Given the description of an element on the screen output the (x, y) to click on. 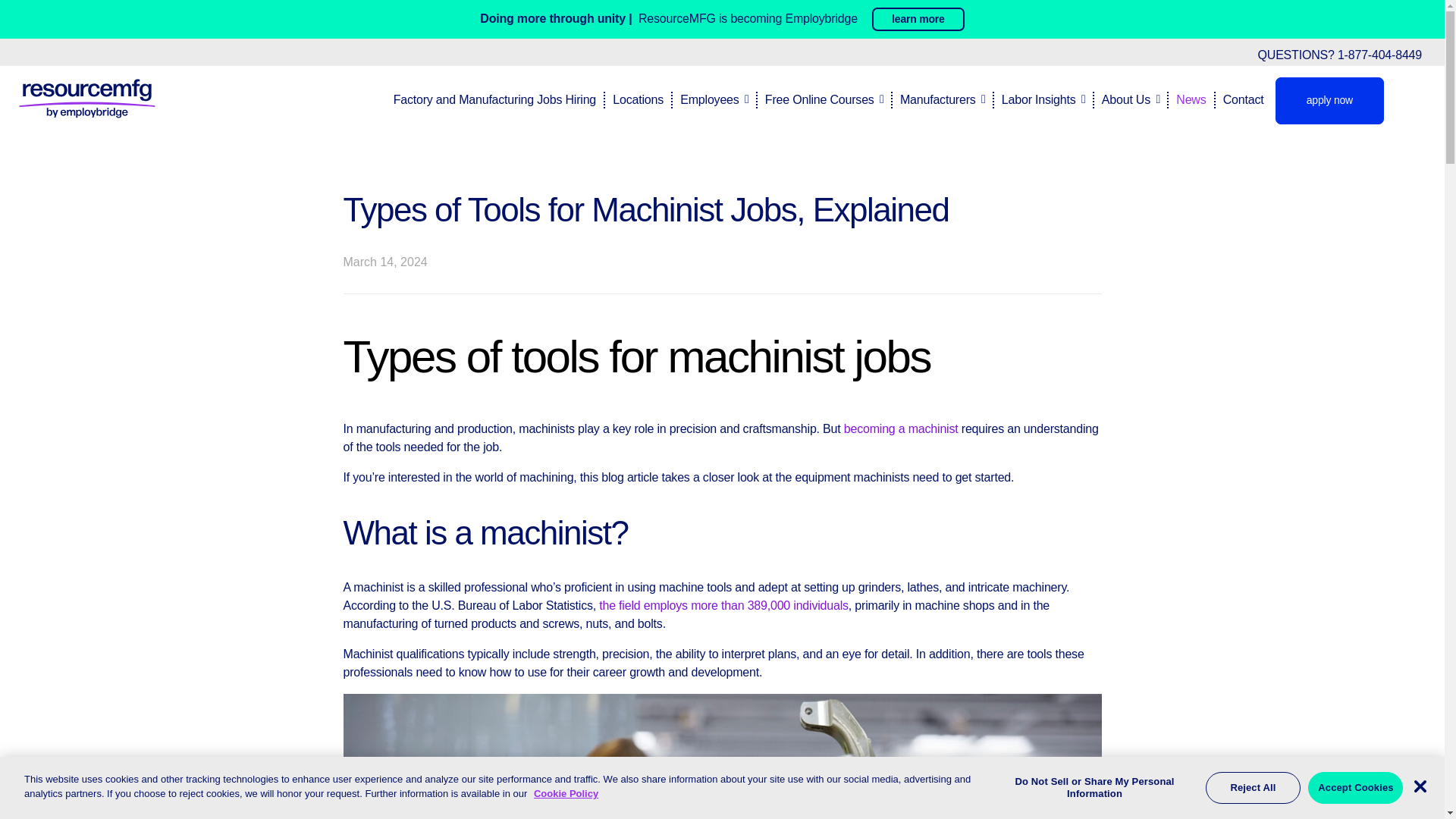
Manufacturers (936, 99)
apply now (1329, 99)
the field employs more than 389,000 individuals (723, 604)
learn more (917, 19)
becoming a machinist (901, 428)
News (1186, 99)
Locations (633, 99)
Free Online Courses (817, 99)
Labor Insights (1036, 99)
Factory and Manufacturing Jobs Hiring (494, 99)
